Given the description of an element on the screen output the (x, y) to click on. 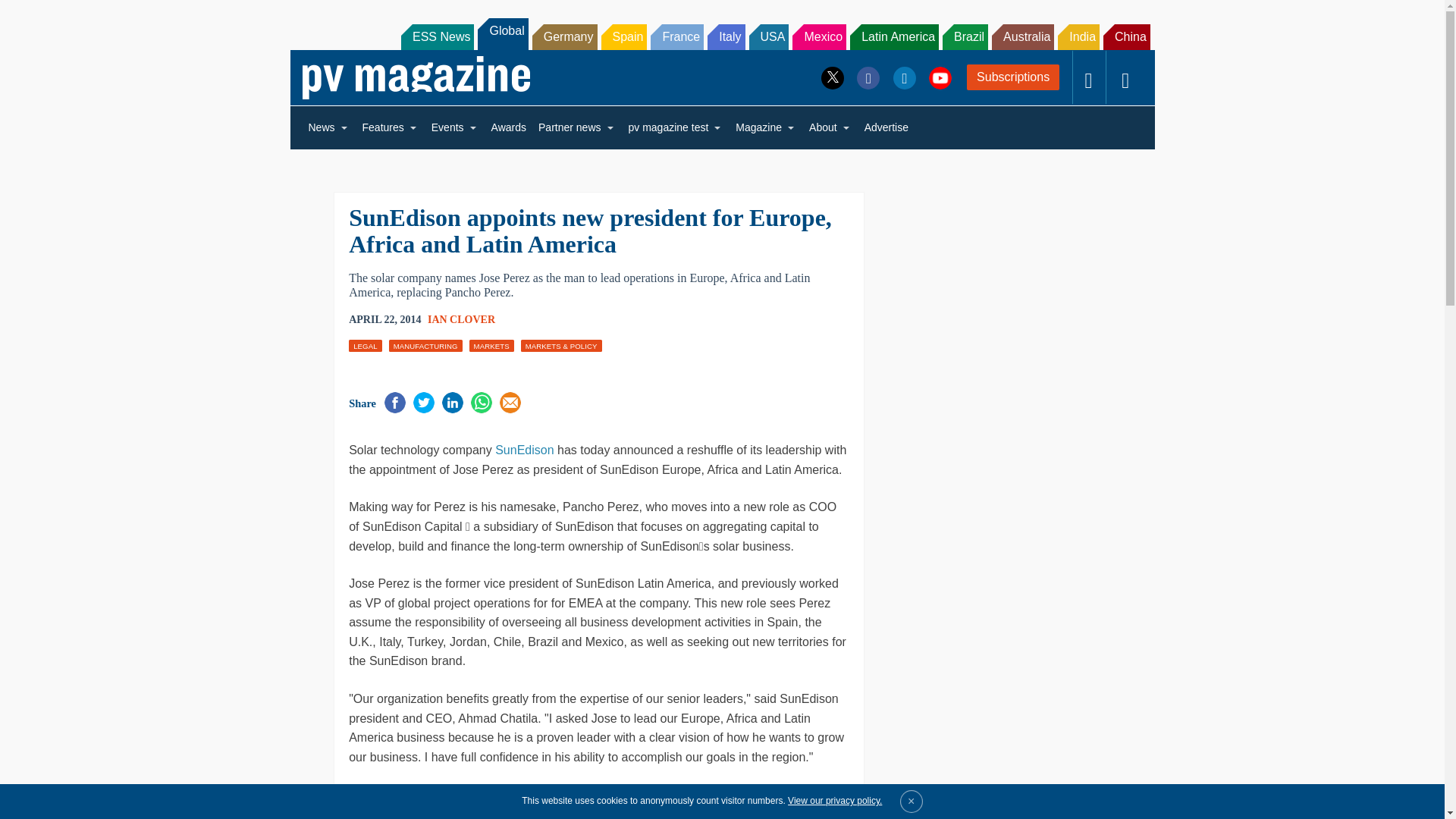
USA (769, 36)
Tuesday, April 22, 2014, 12:00 am (384, 320)
Brazil (965, 36)
Latin America (894, 36)
Italy (725, 36)
India (1078, 36)
Search (32, 15)
China (1126, 36)
France (676, 36)
Germany (564, 36)
